Given the description of an element on the screen output the (x, y) to click on. 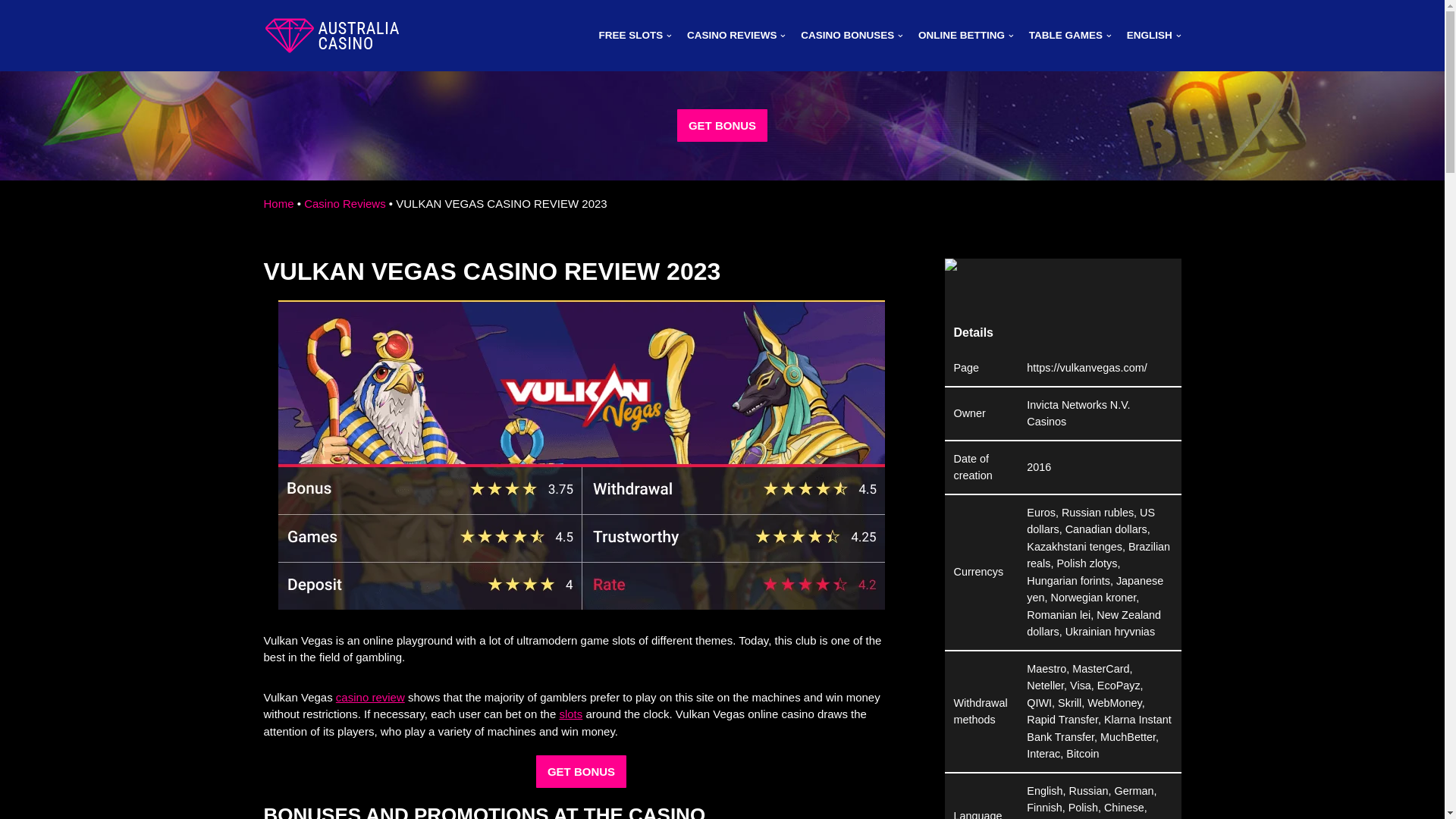
australia-casino-review.com (331, 35)
Skip to content (11, 31)
CASINO BONUSES (851, 35)
FREE SLOTS (634, 35)
CASINO REVIEWS (736, 35)
English (1153, 35)
